Given the description of an element on the screen output the (x, y) to click on. 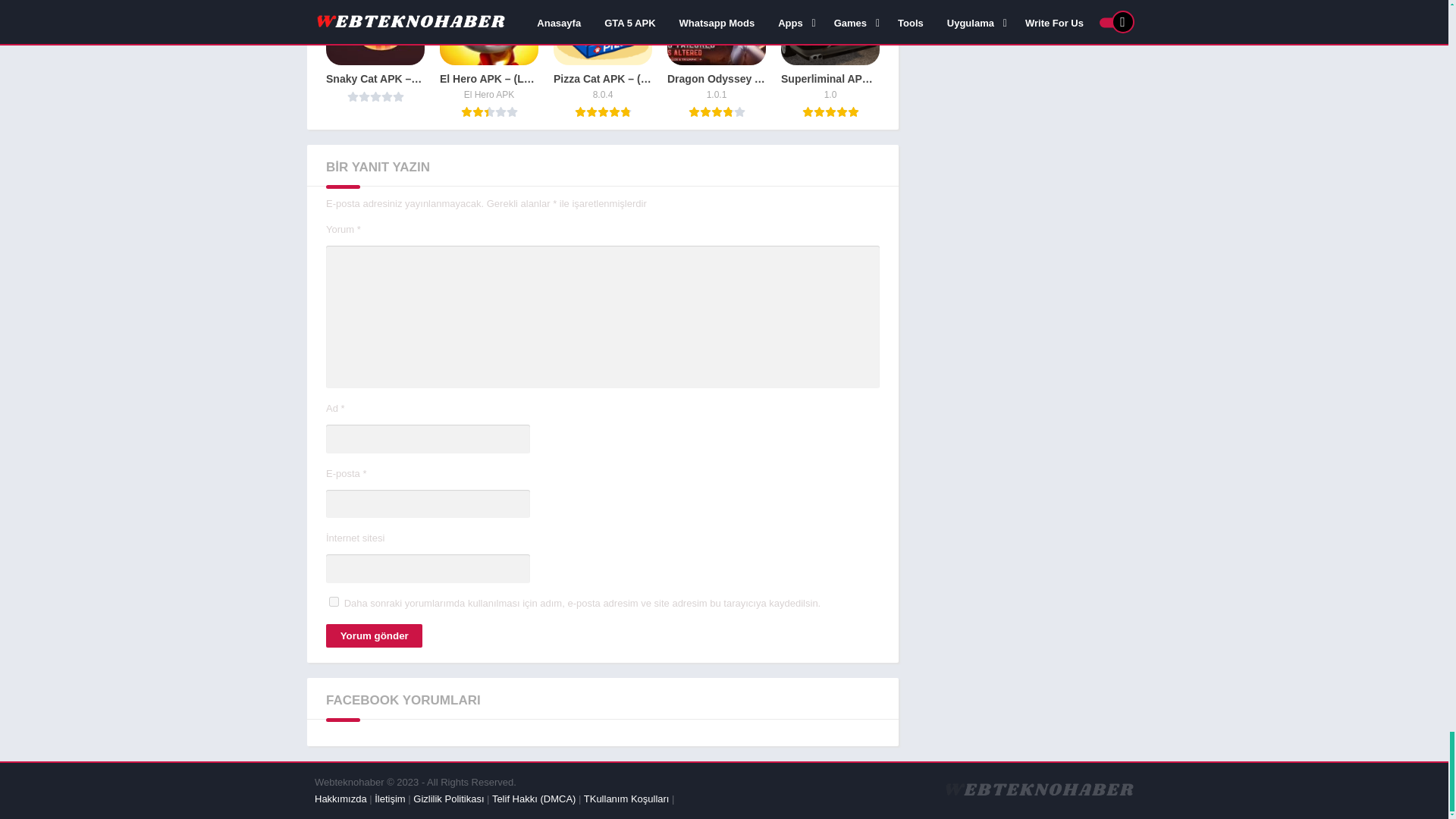
yes (334, 601)
